Given the description of an element on the screen output the (x, y) to click on. 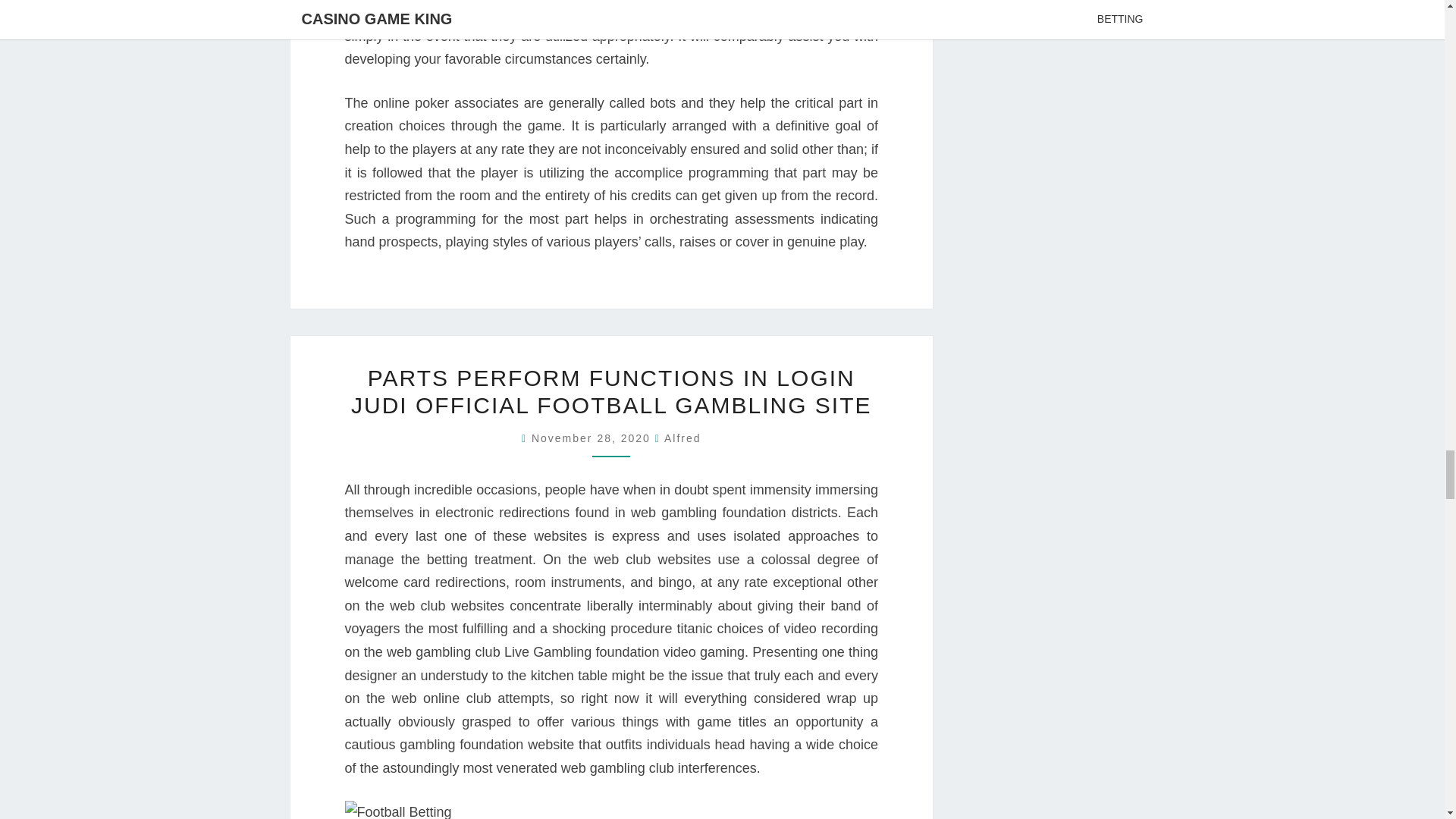
Alfred (682, 438)
November 28, 2020 (593, 438)
10:35 am (593, 438)
View all posts by Alfred (682, 438)
